Given the description of an element on the screen output the (x, y) to click on. 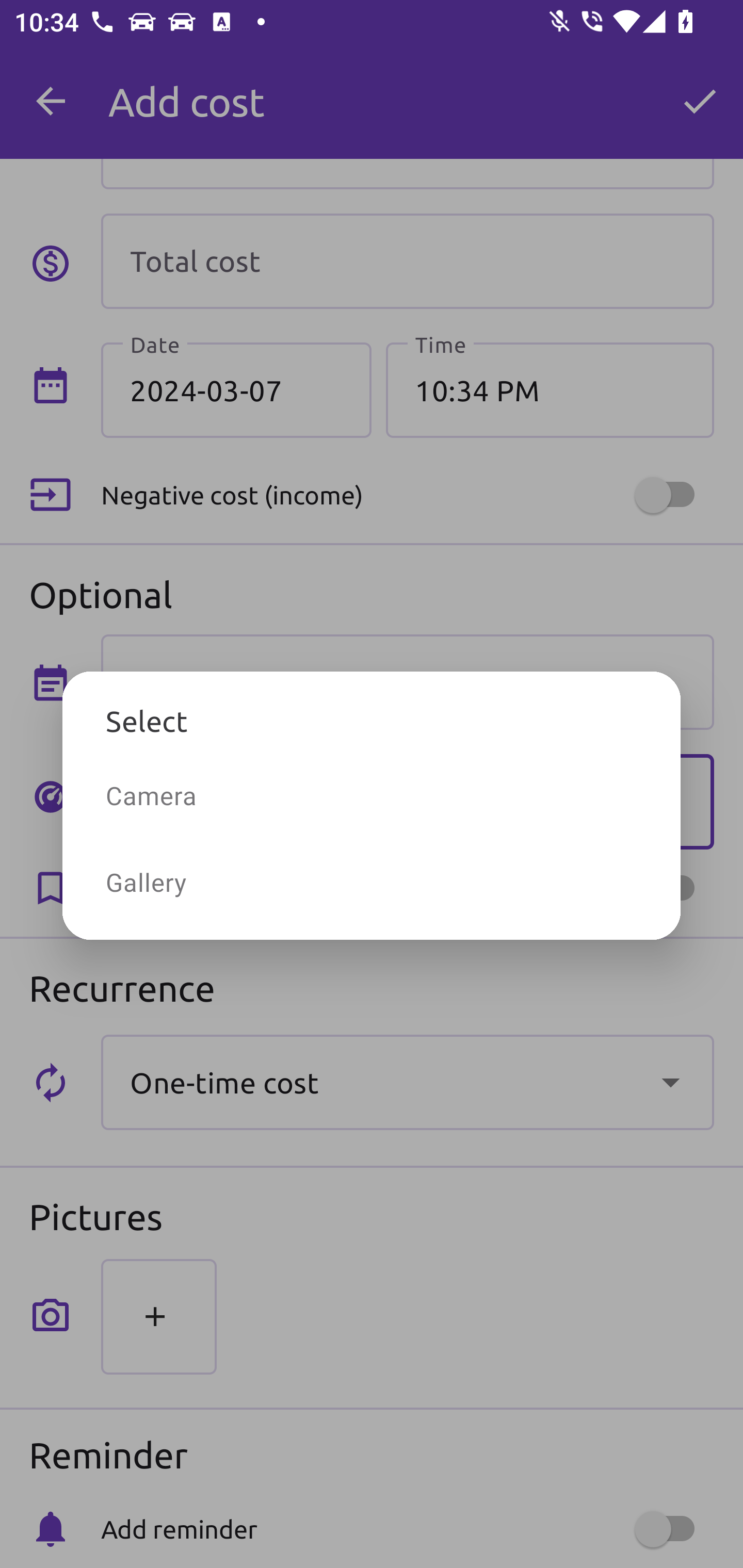
Camera (371, 795)
Gallery (371, 881)
